Given the description of an element on the screen output the (x, y) to click on. 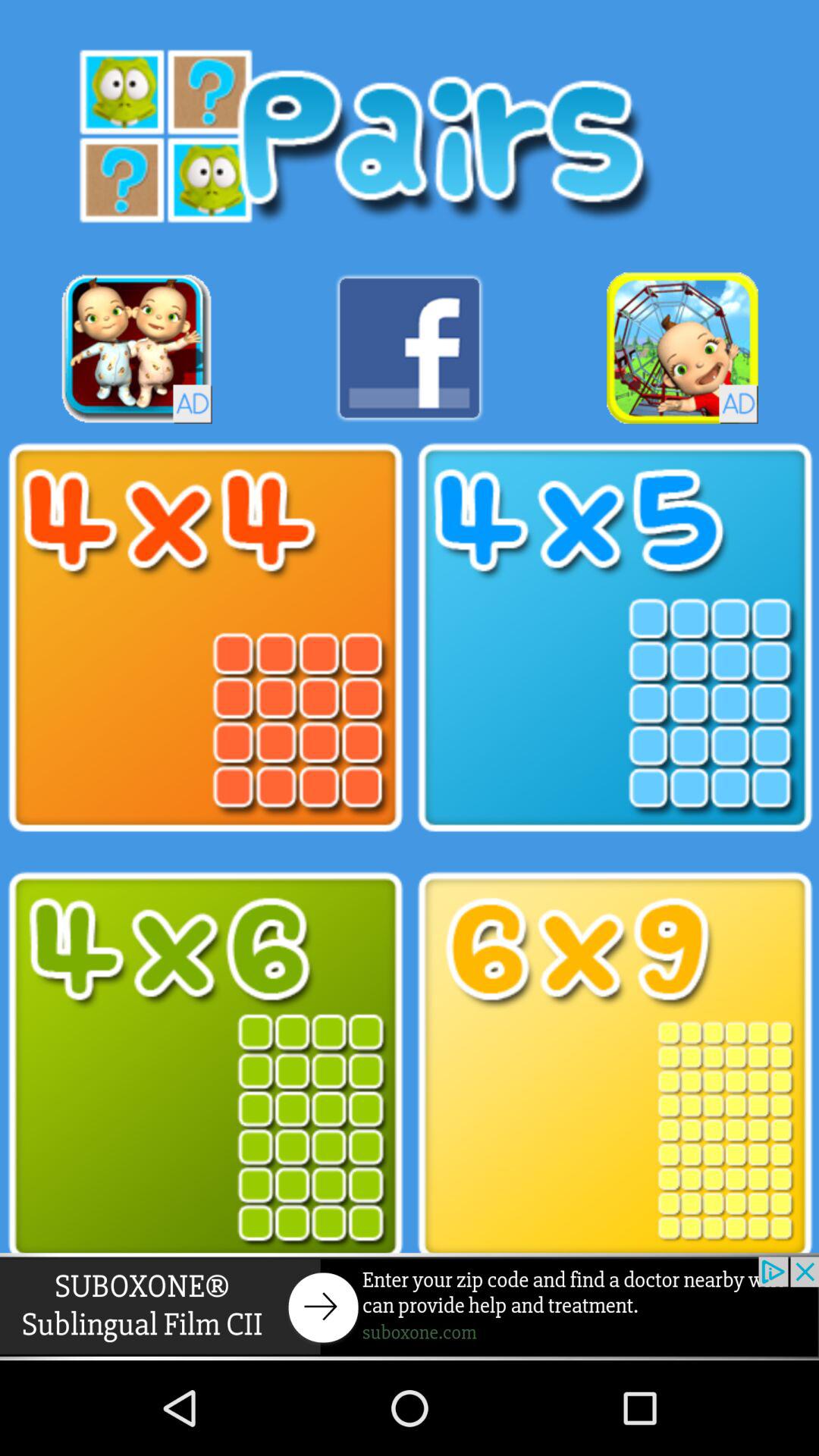
game (136, 347)
